Given the description of an element on the screen output the (x, y) to click on. 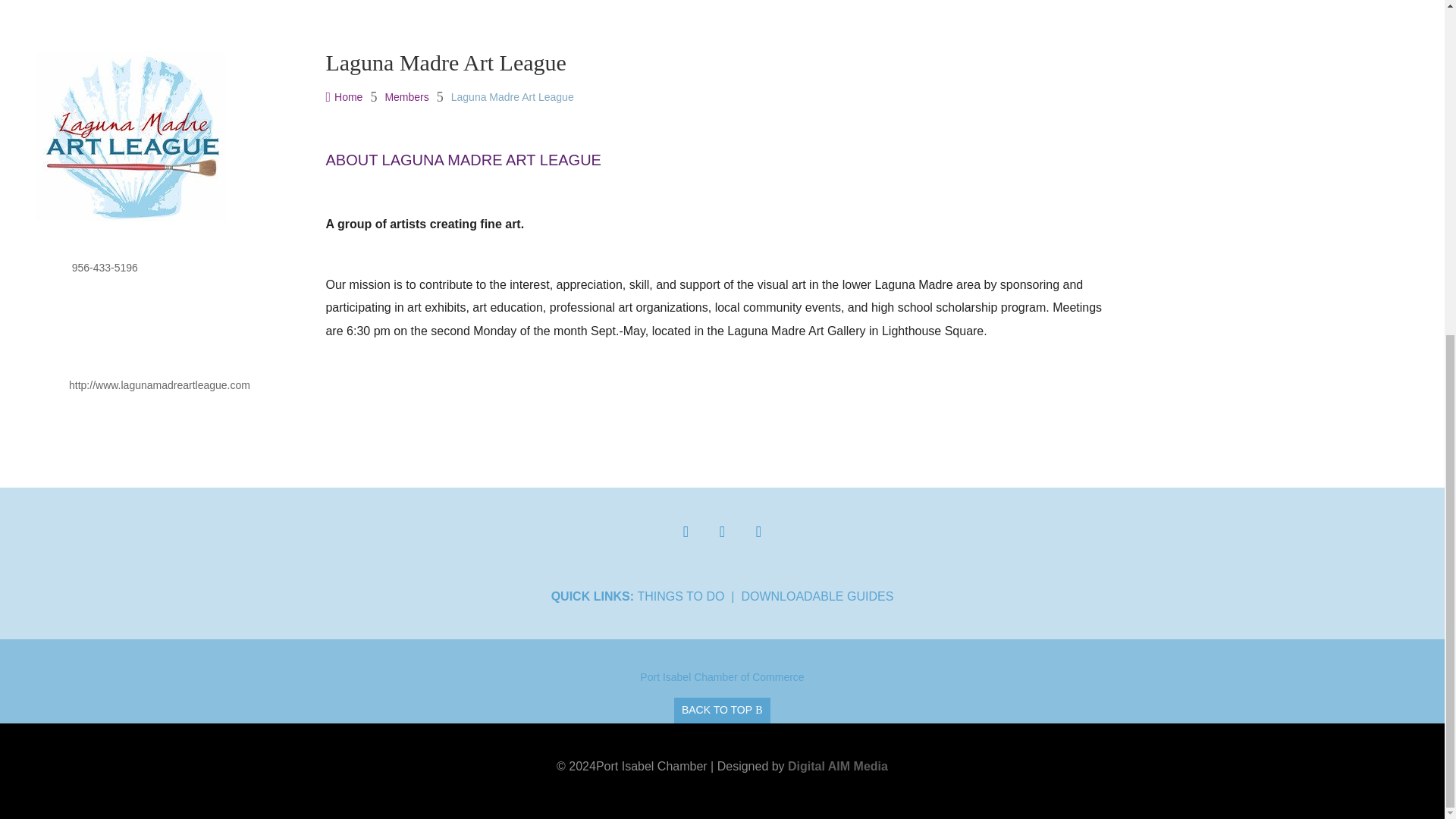
Follow on X (721, 531)
Follow on Instagram (757, 531)
Digital AIM Media (837, 766)
BACK TO TOP (722, 710)
Members (406, 96)
Follow on Facebook (684, 531)
THINGS TO DO (680, 595)
DOWNLOADABLE GUIDES (817, 595)
